Given the description of an element on the screen output the (x, y) to click on. 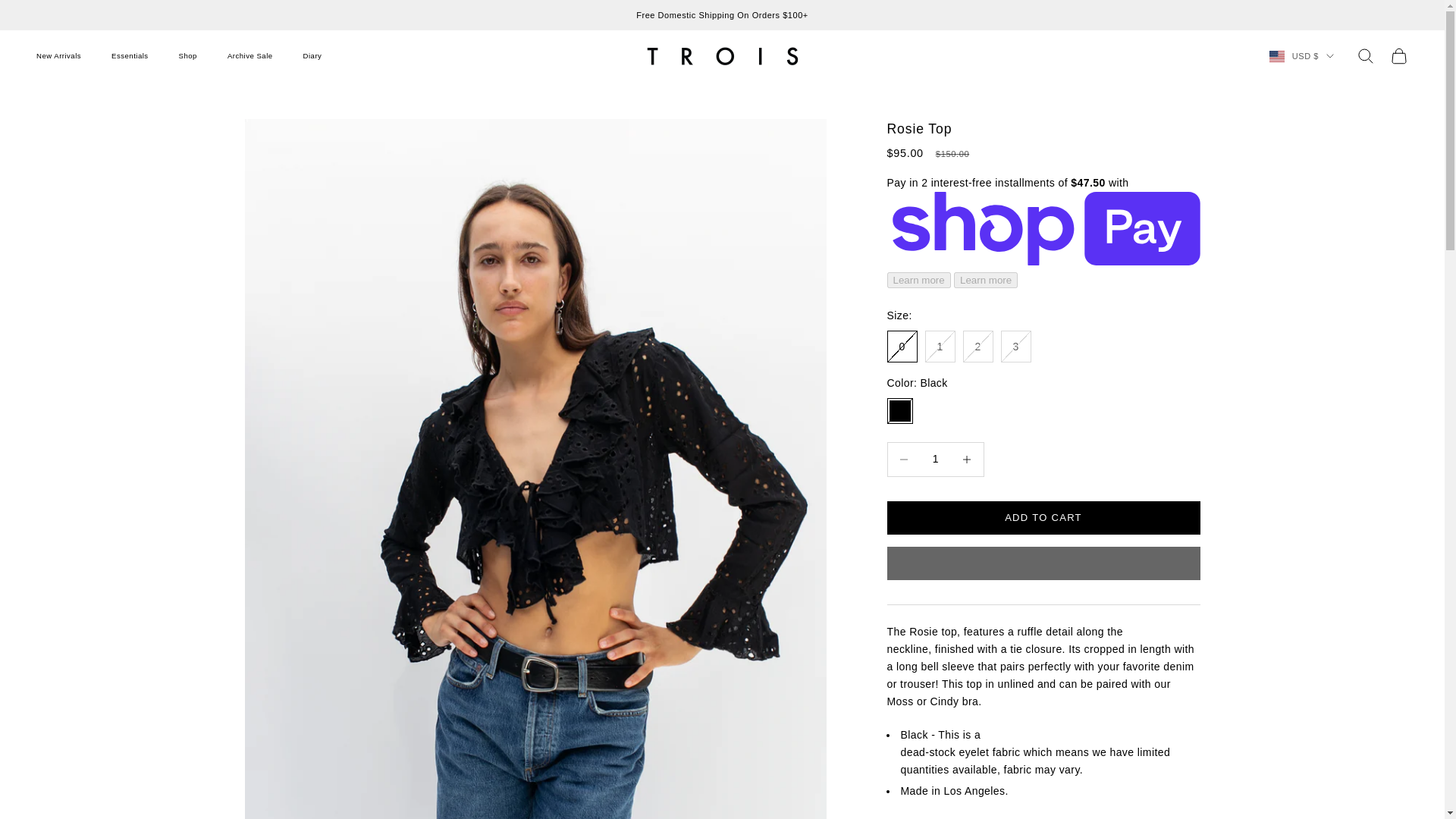
Diary (311, 55)
TROIS (721, 56)
Archive Sale (250, 55)
1 (935, 459)
Essentials (130, 55)
New Arrivals (58, 55)
